Given the description of an element on the screen output the (x, y) to click on. 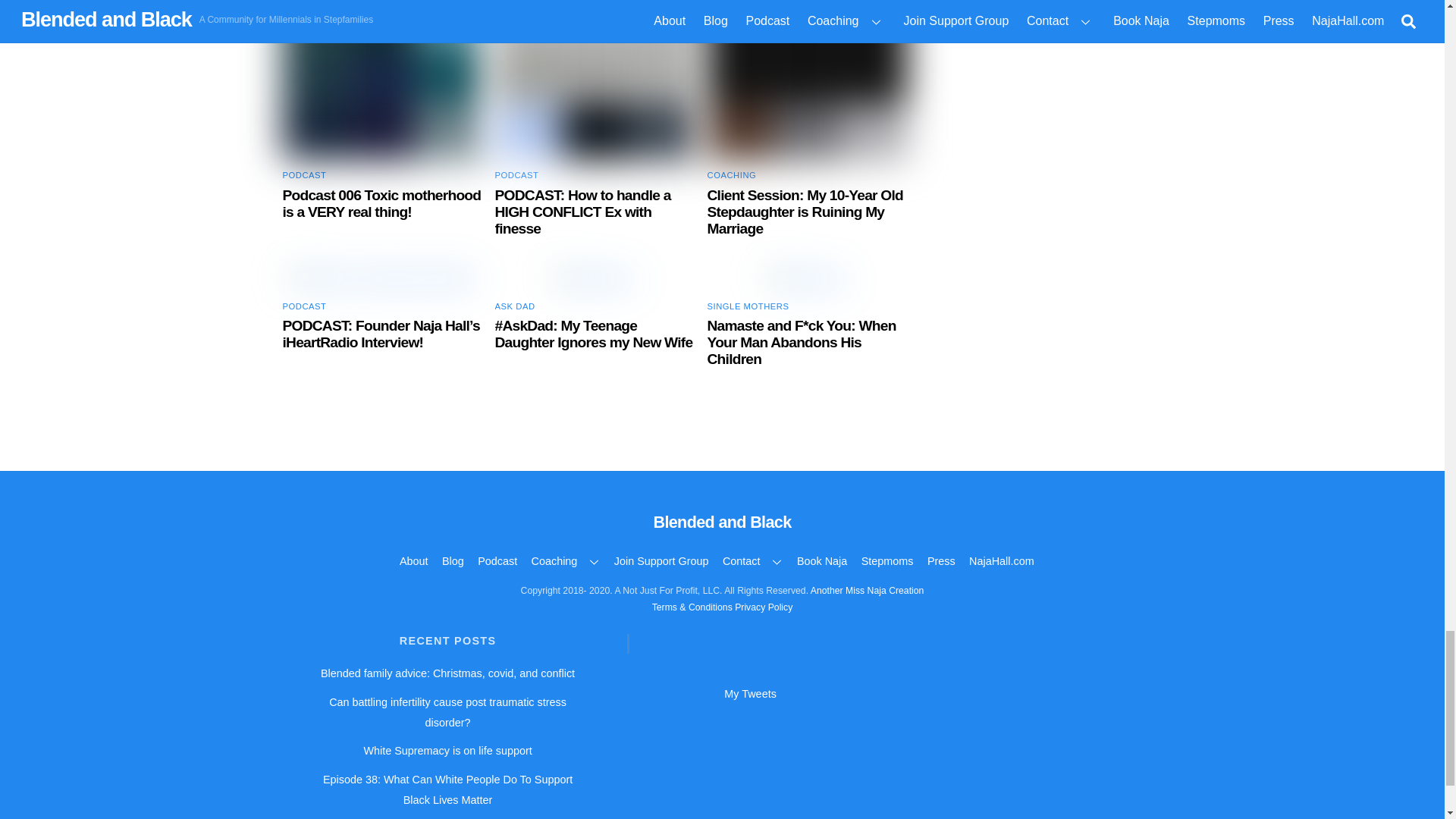
Podcast 006 Toxic motherhood is a VERY real thing! (381, 203)
PODCAST (516, 174)
PODCAST (304, 174)
